Given the description of an element on the screen output the (x, y) to click on. 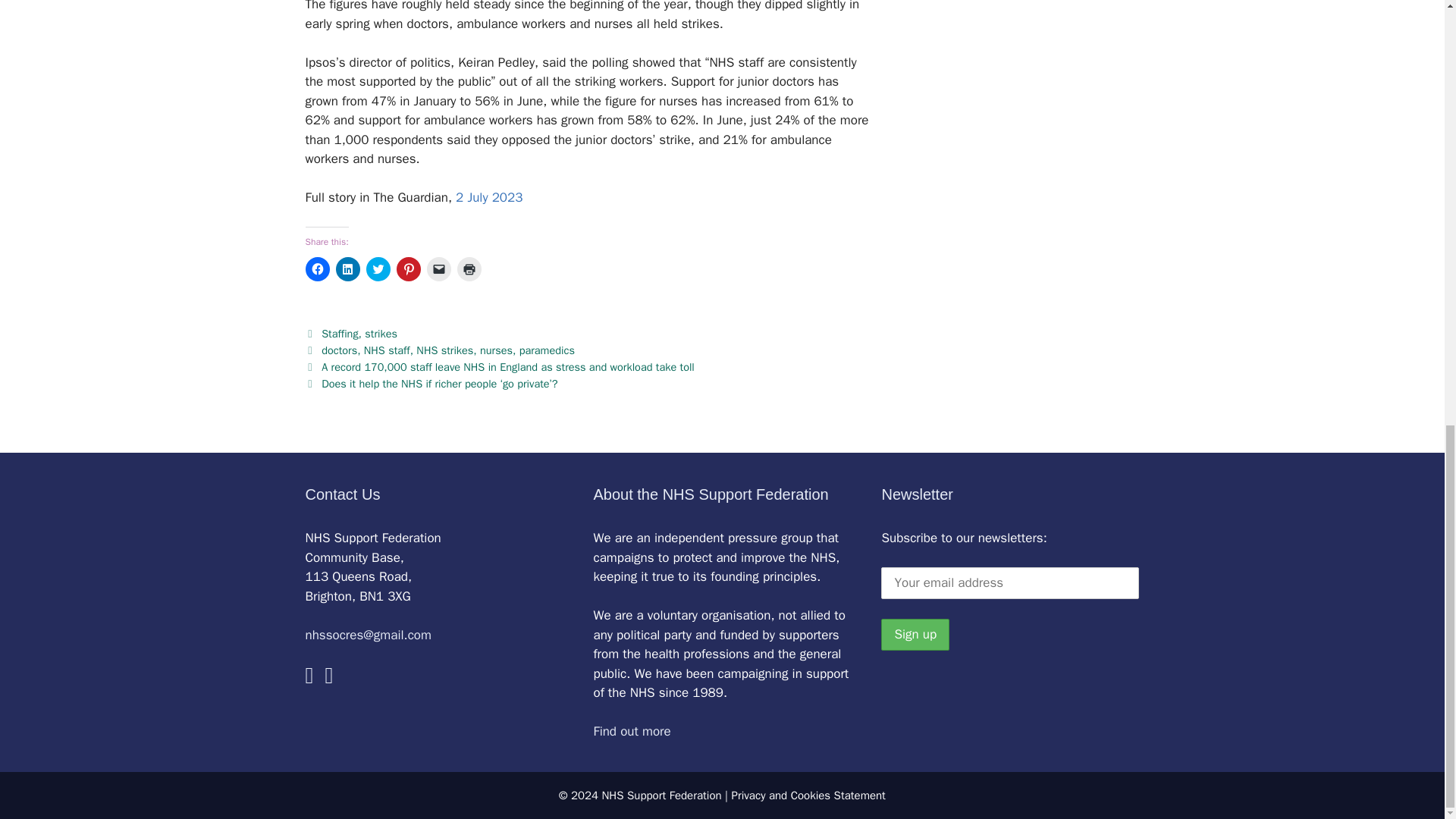
Click to share on Twitter (377, 269)
Click to print (468, 269)
Click to share on LinkedIn (346, 269)
Click to email a link to a friend (437, 269)
Click to share on Facebook (316, 269)
Click to share on Pinterest (408, 269)
Scroll back to top (1406, 653)
Sign up (914, 634)
